Given the description of an element on the screen output the (x, y) to click on. 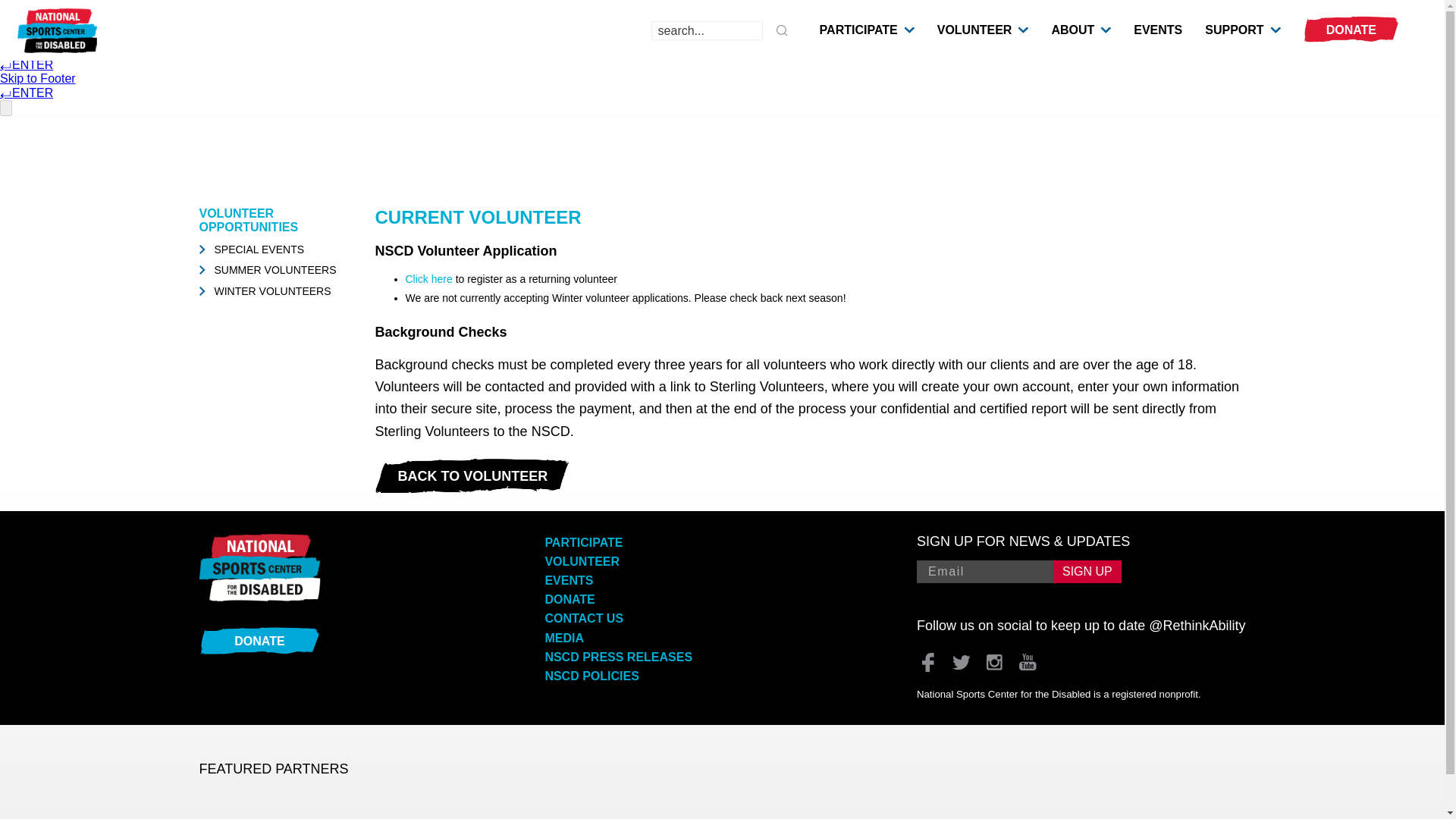
SUPPORT (1234, 29)
DONATE (1351, 29)
Sign Up (1086, 571)
PARTICIPATE (858, 29)
ABOUT (1072, 29)
VOLUNTEER (974, 29)
EVENTS (1158, 29)
